Given the description of an element on the screen output the (x, y) to click on. 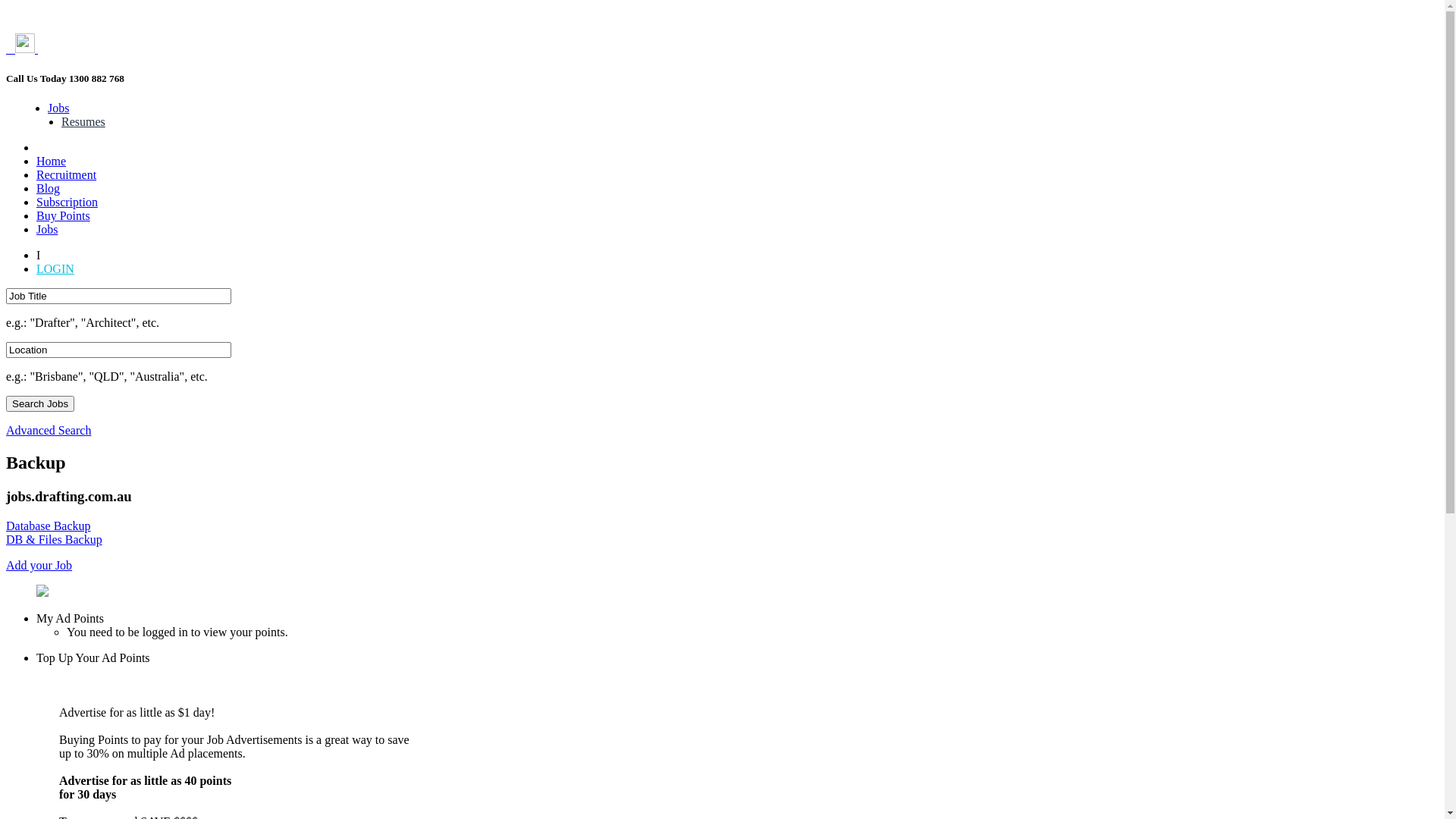
Buy Points Element type: text (63, 215)
Job Title Element type: hover (118, 296)
Add your Job Element type: text (39, 564)
Advanced Search Element type: text (48, 429)
Database Backup Element type: text (48, 525)
Search Jobs Element type: text (40, 403)
Jobs Element type: text (58, 107)
DB & Files Backup Element type: text (54, 539)
Subscription Element type: text (66, 201)
Recruitment Element type: text (66, 174)
Jobs Element type: text (46, 228)
Location Element type: hover (118, 349)
Home Element type: text (50, 160)
Blog Element type: text (47, 188)
Resumes Element type: text (83, 121)
LOGIN Element type: text (55, 268)
